Given the description of an element on the screen output the (x, y) to click on. 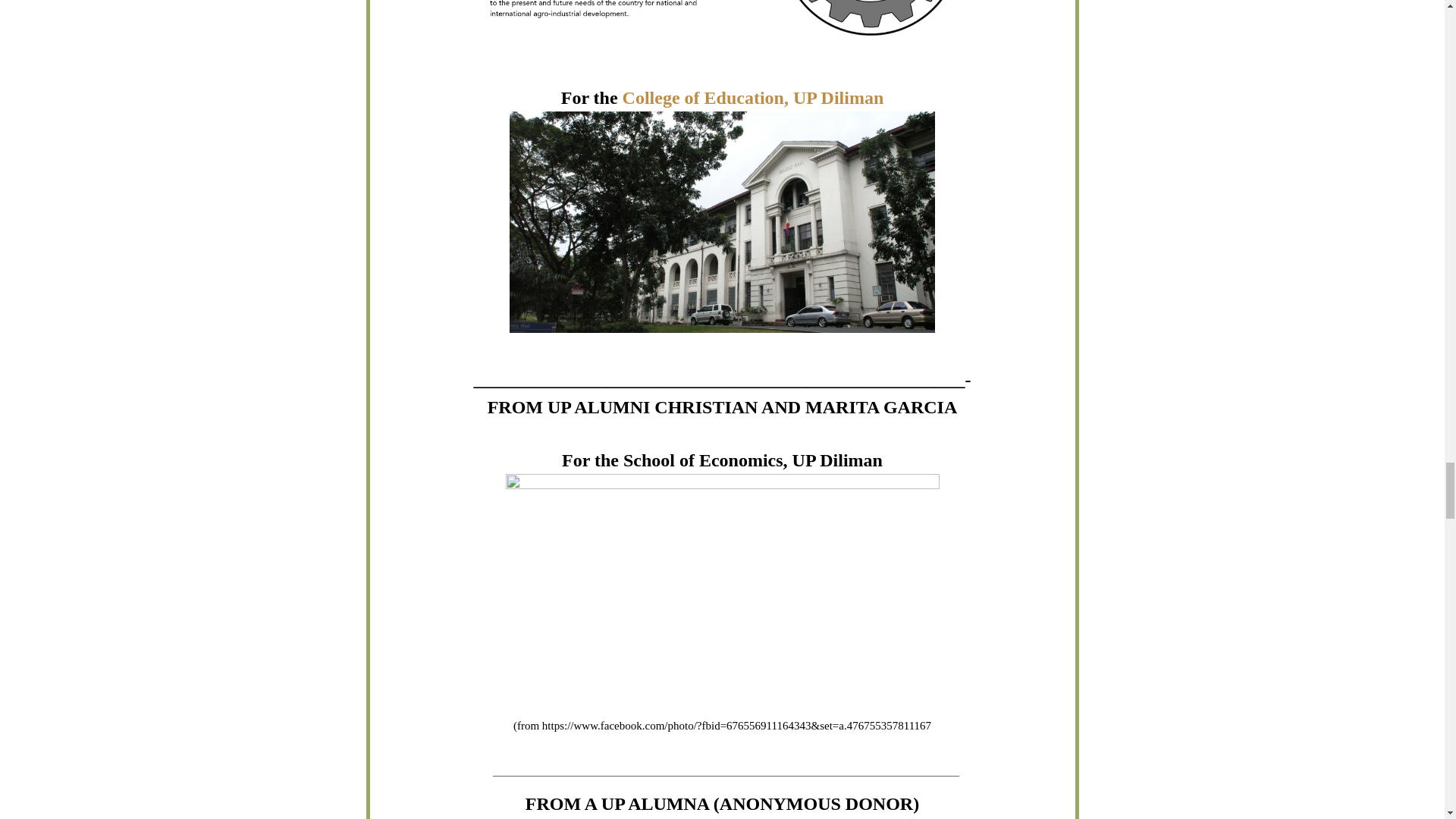
College of Education, UP Diliman (753, 97)
